Given the description of an element on the screen output the (x, y) to click on. 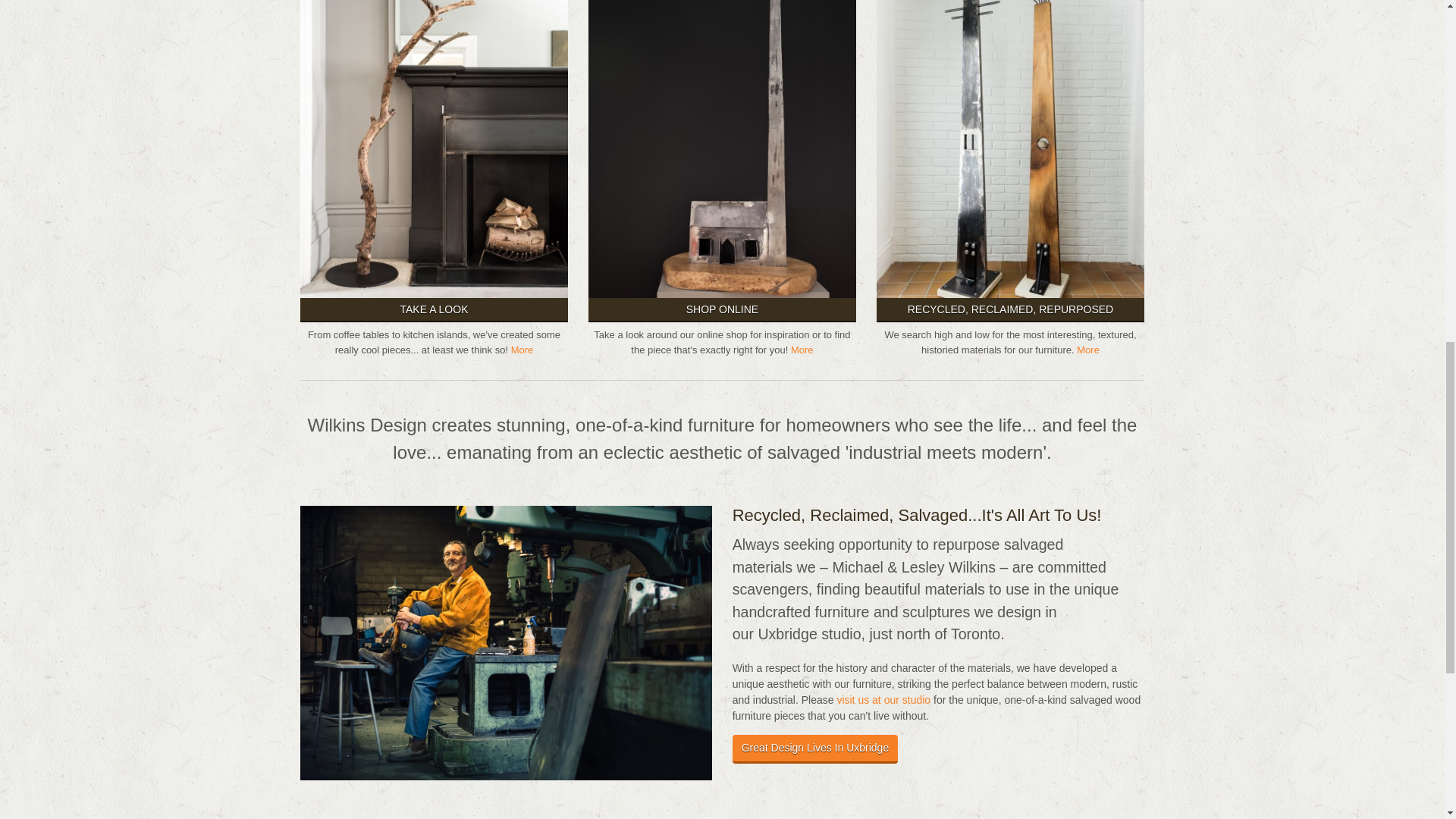
More (801, 349)
Wilkins Design Furniture Shop Online (722, 119)
Take a look at our favourite pieces (522, 349)
visit us at our studio (882, 699)
More (1088, 349)
Great Design Lives In Uxbridge (815, 748)
More (522, 349)
Wilkins Design Furniture Shop Online (801, 349)
